Given the description of an element on the screen output the (x, y) to click on. 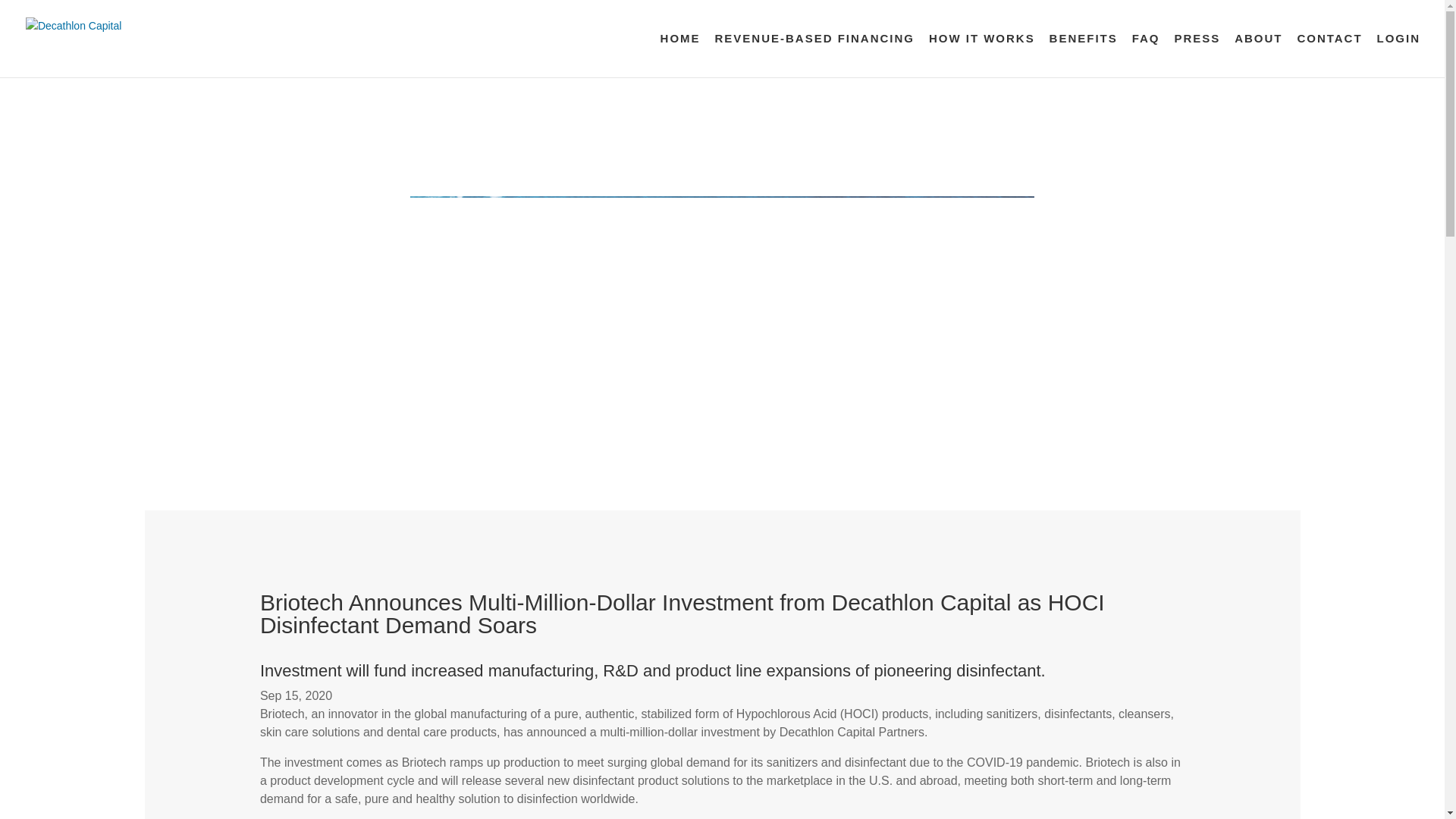
BENEFITS (1083, 54)
HOME (680, 54)
LOGIN (1399, 54)
ABOUT (1258, 54)
REVENUE-BASED FINANCING (814, 54)
CONTACT (1329, 54)
PRESS (1196, 54)
HOW IT WORKS (981, 54)
